Given the description of an element on the screen output the (x, y) to click on. 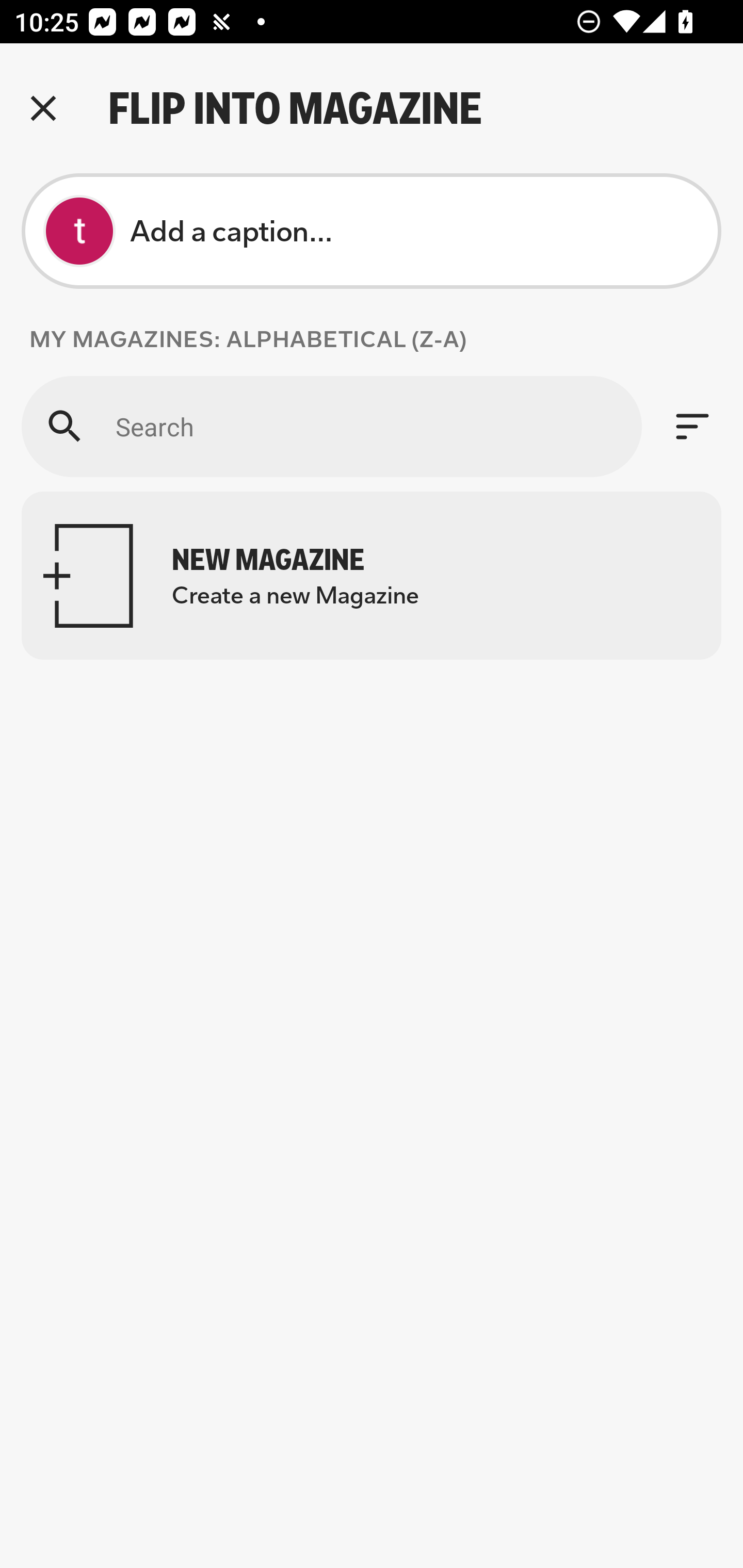
test appium Add a caption… (371, 231)
Search (331, 426)
NEW MAGAZINE Create a new Magazine (371, 575)
